Given the description of an element on the screen output the (x, y) to click on. 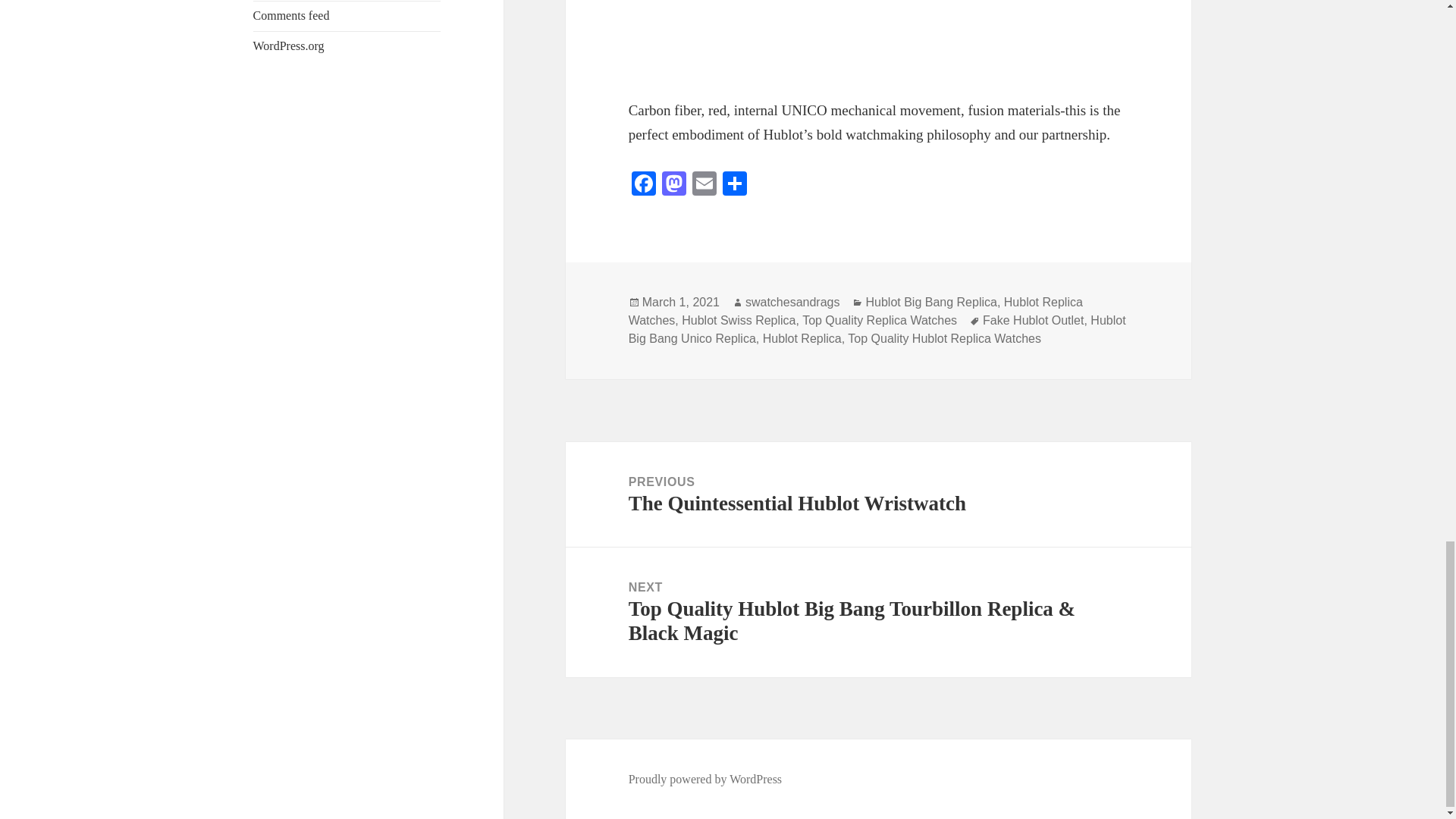
Hublot Replica (801, 338)
Mastodon (673, 185)
Facebook (643, 185)
Share (734, 185)
Email (703, 185)
Hublot Replica Watches (855, 311)
Facebook (643, 185)
Hublot Big Bang Unico Replica (876, 329)
March 1, 2021 (680, 302)
WordPress.org (288, 45)
Hublot Swiss Replica (737, 320)
swatchesandrags (792, 302)
Comments feed (291, 15)
Fake Hublot Outlet (1032, 320)
Mastodon (673, 185)
